Given the description of an element on the screen output the (x, y) to click on. 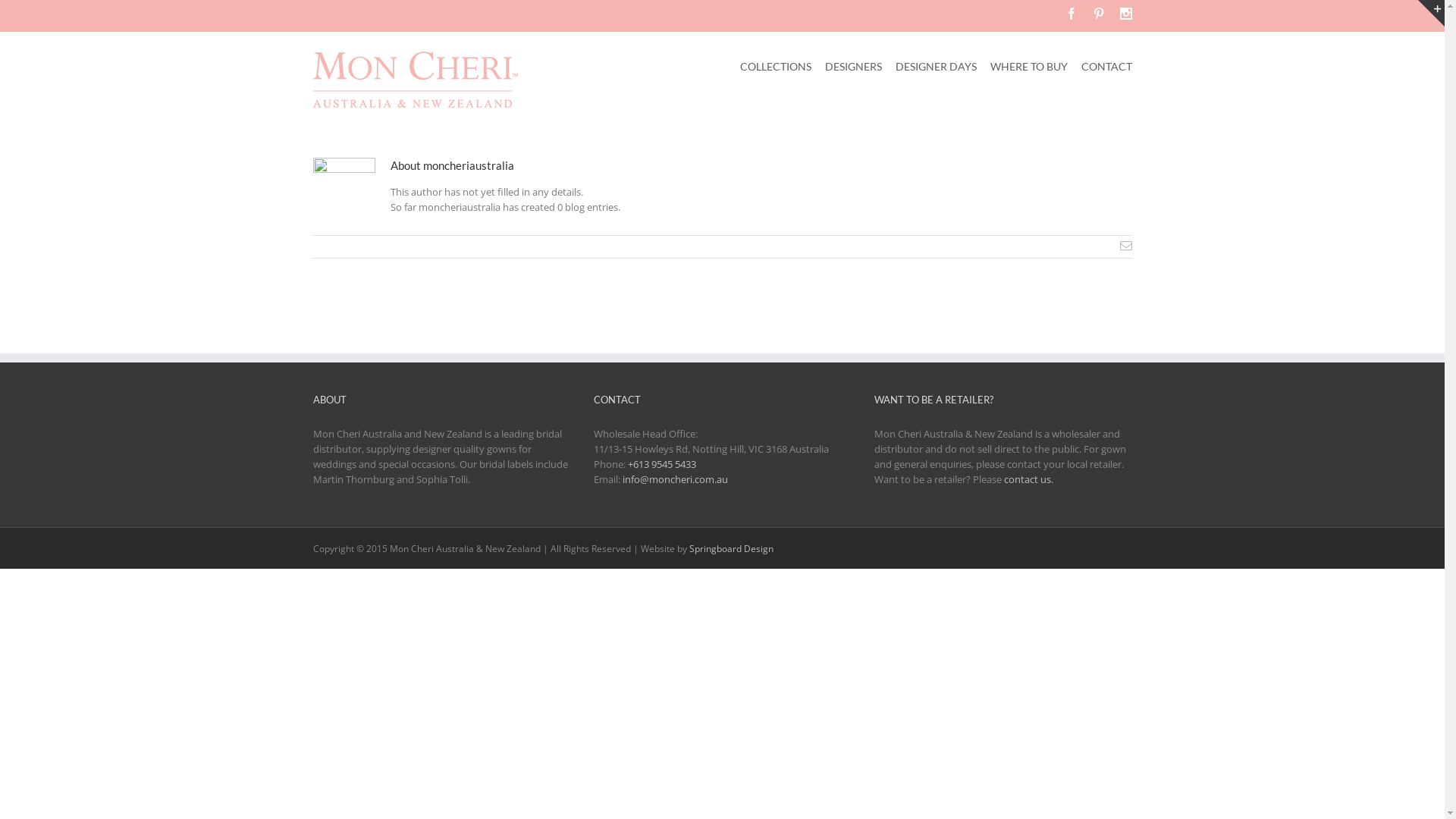
info@moncheri.com.au Element type: text (674, 479)
Springboard Design Element type: text (730, 548)
CONTACT Element type: text (1106, 64)
DESIGNERS Element type: text (853, 64)
DESIGNER DAYS Element type: text (934, 64)
Mail Element type: hover (1125, 245)
contact us. Element type: text (1028, 479)
WHERE TO BUY Element type: text (1028, 64)
+613 9545 5433 Element type: text (661, 463)
Instagram Element type: hover (1125, 13)
Facebook Element type: hover (1070, 13)
Pinterest Element type: hover (1098, 13)
COLLECTIONS Element type: text (775, 64)
